Given the description of an element on the screen output the (x, y) to click on. 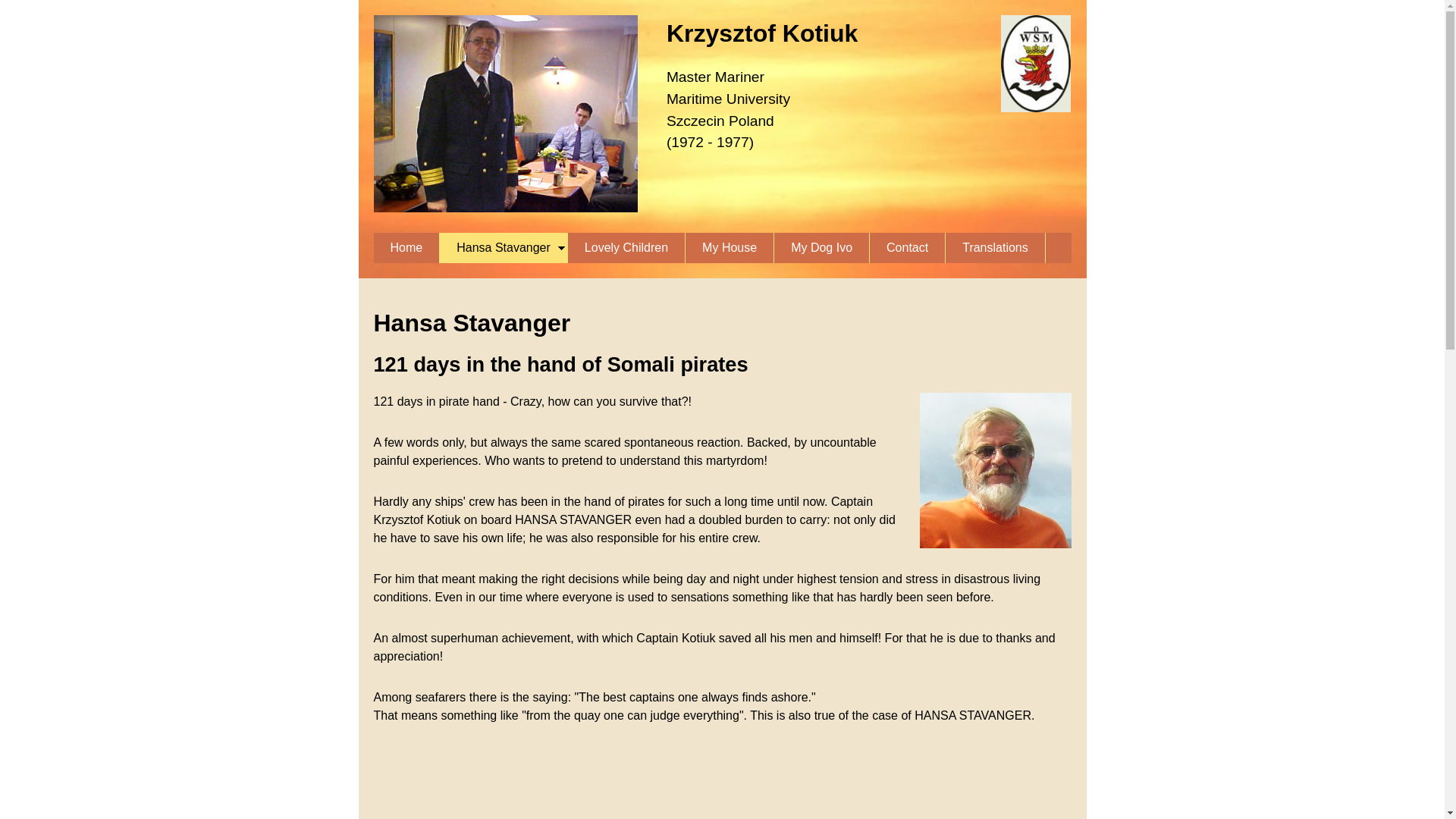
My Dog Ivo (821, 247)
My House (729, 247)
Contact (906, 247)
Translations (994, 247)
Home (405, 247)
Lovely Children (626, 247)
Hansa Stavanger (503, 247)
